Given the description of an element on the screen output the (x, y) to click on. 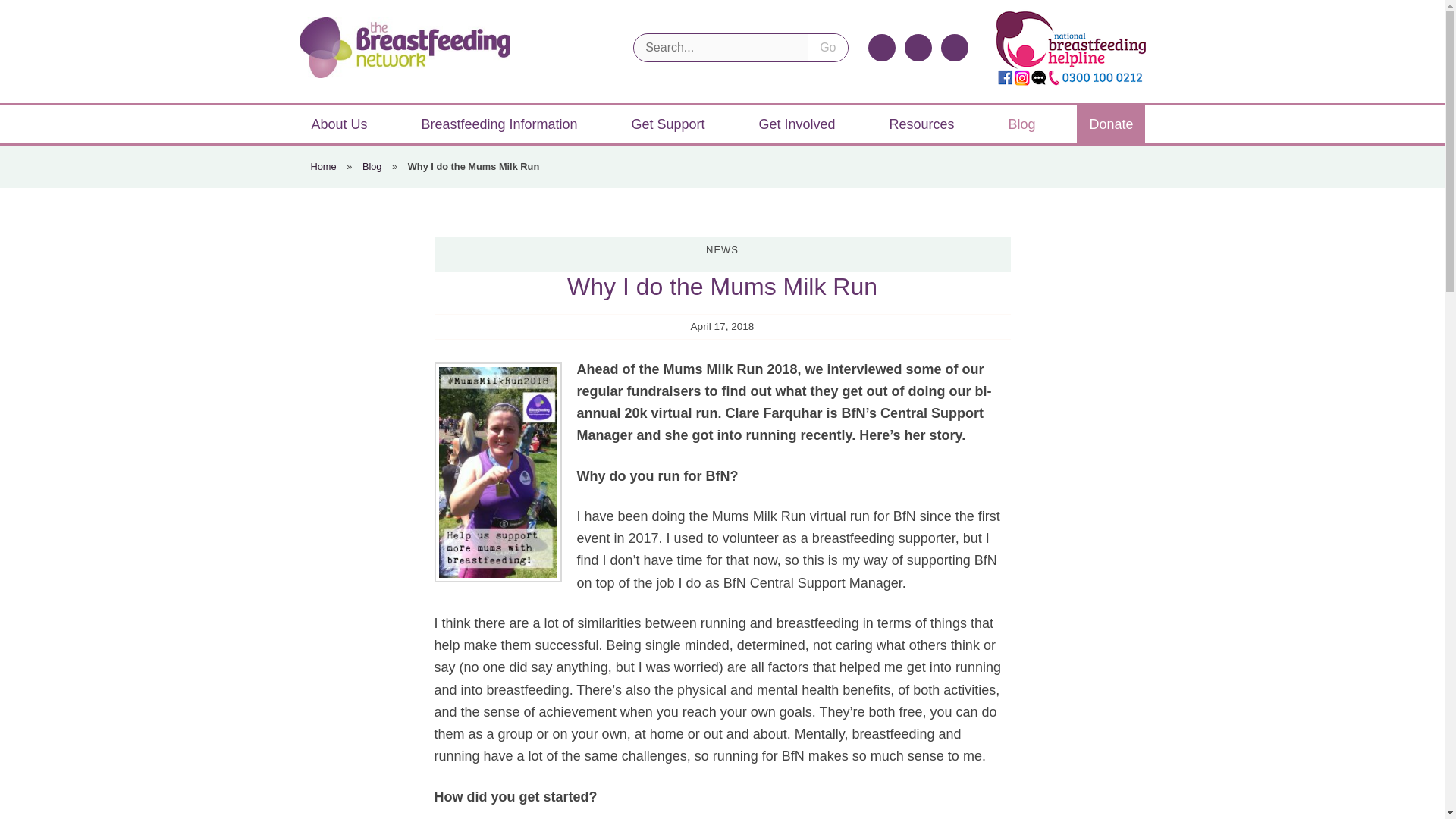
Go (827, 47)
About Us (338, 124)
Breastfeeding Information (499, 124)
Go (827, 47)
The Breastfeeding Network (403, 47)
Go (827, 47)
